Given the description of an element on the screen output the (x, y) to click on. 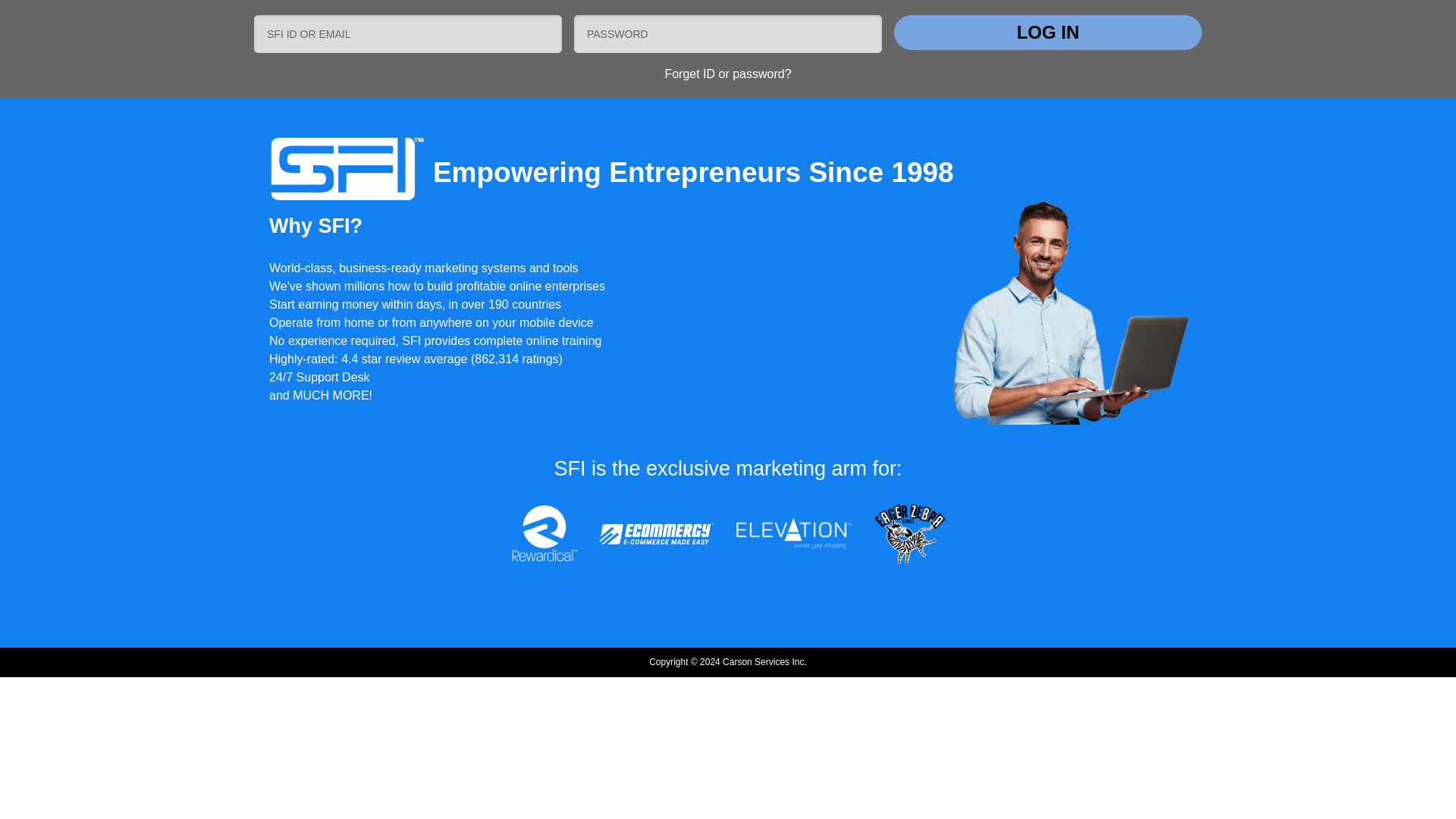
LOG IN (1047, 32)
Forget ID or password? (726, 73)
